Given the description of an element on the screen output the (x, y) to click on. 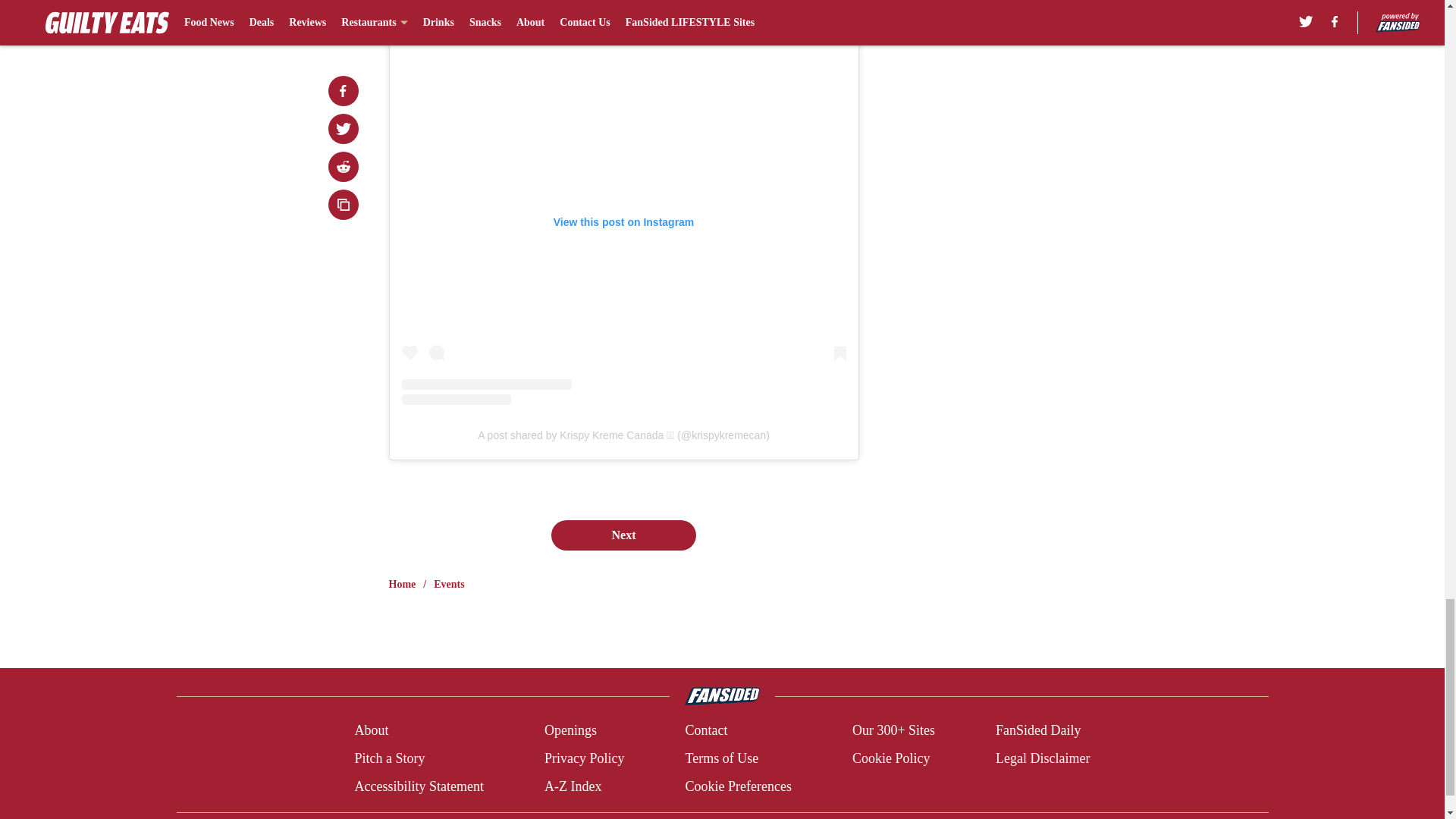
About (370, 730)
Openings (570, 730)
Contact (705, 730)
Home (401, 584)
Next (622, 535)
Events (448, 584)
